Given the description of an element on the screen output the (x, y) to click on. 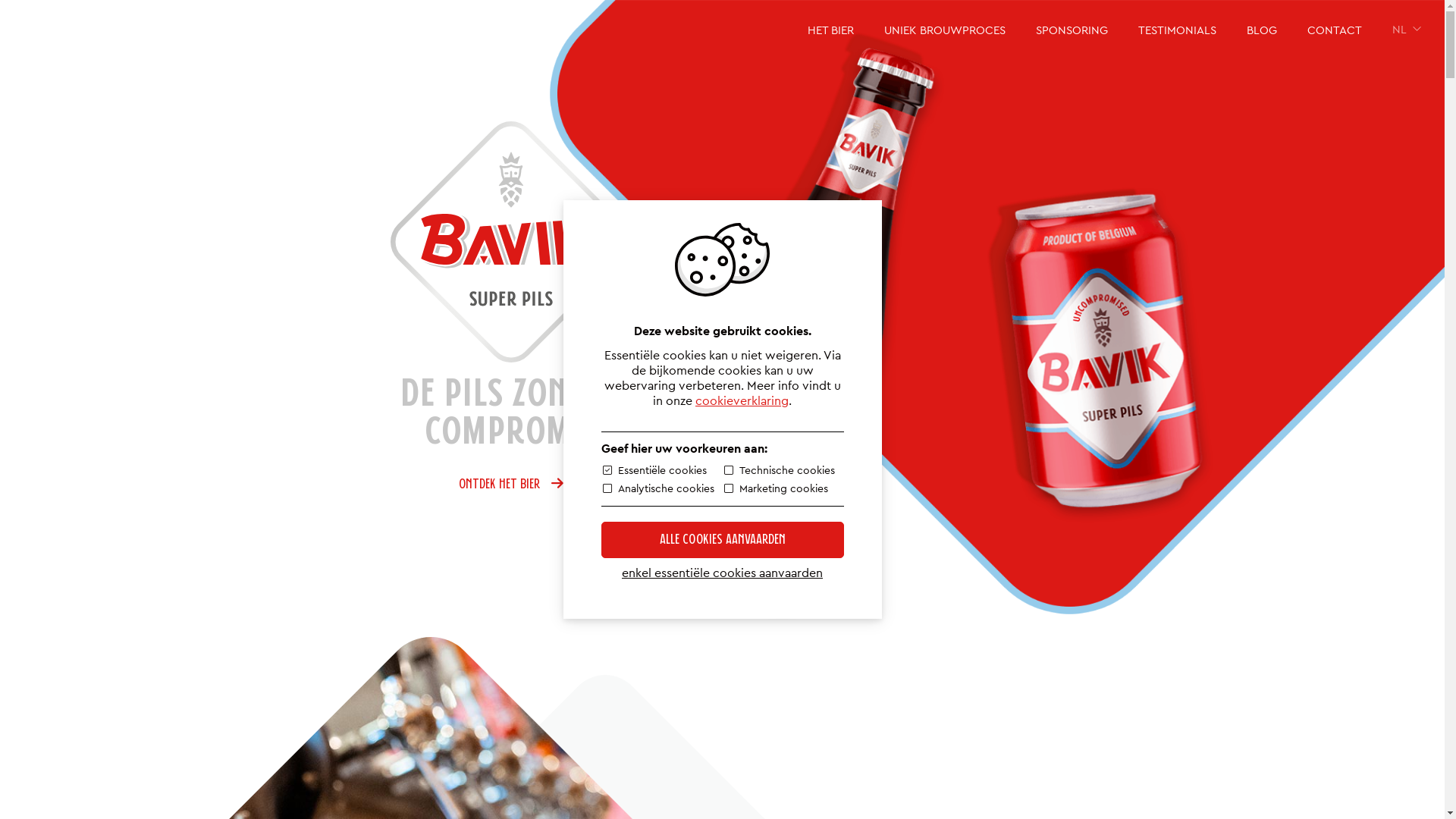
SPONSORING Element type: text (1071, 30)
BLOG Element type: text (1261, 30)
Alle cookies aanvaarden Element type: text (721, 539)
cookieverklaring Element type: text (741, 401)
UNIEK BROUWPROCES Element type: text (944, 30)
CONTACT Element type: text (1334, 30)
TESTIMONIALS Element type: text (1177, 30)
Ontdek het bier Element type: text (510, 485)
HET BIER Element type: text (830, 30)
